Given the description of an element on the screen output the (x, y) to click on. 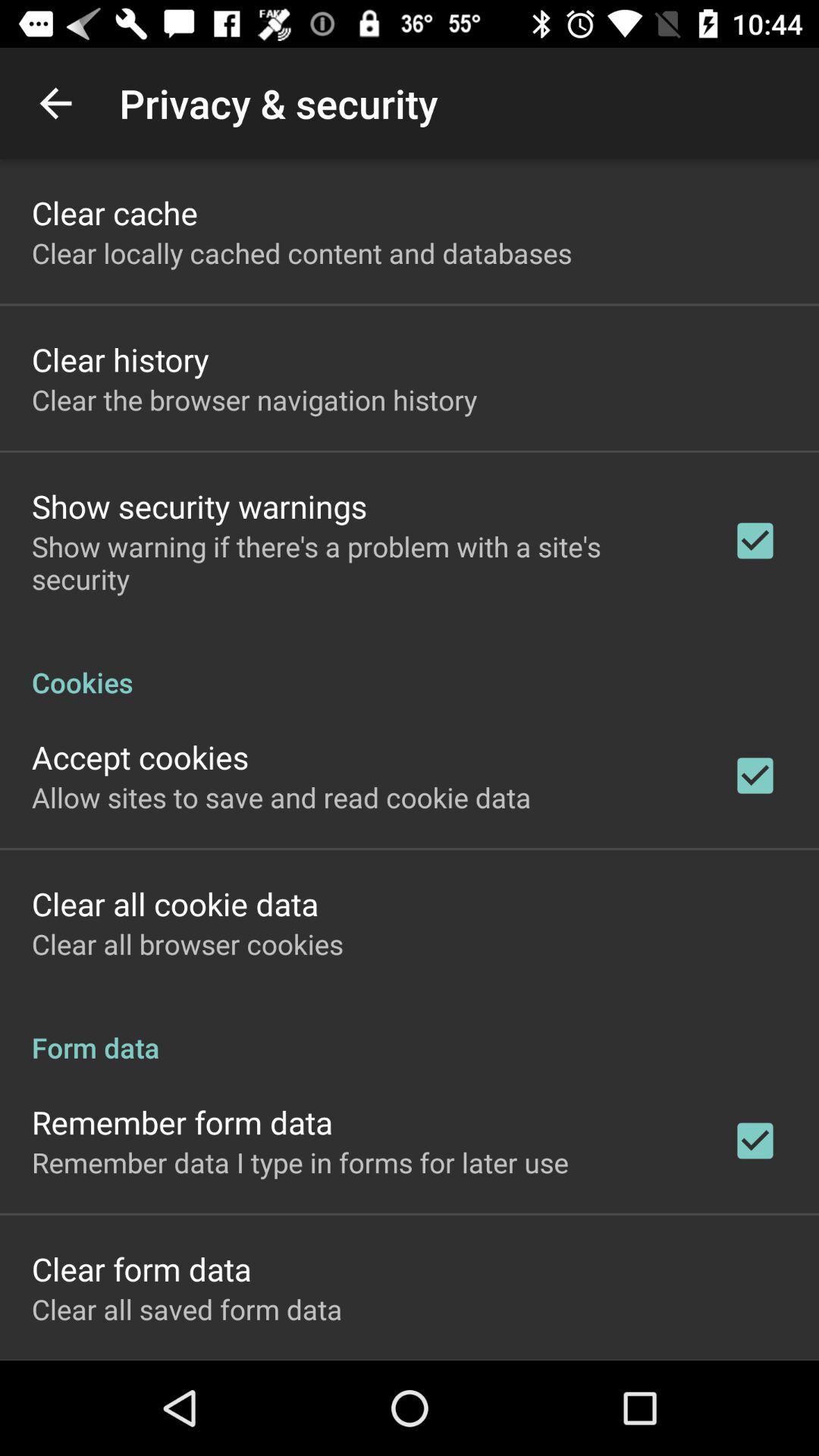
turn on item above clear cache icon (55, 103)
